Given the description of an element on the screen output the (x, y) to click on. 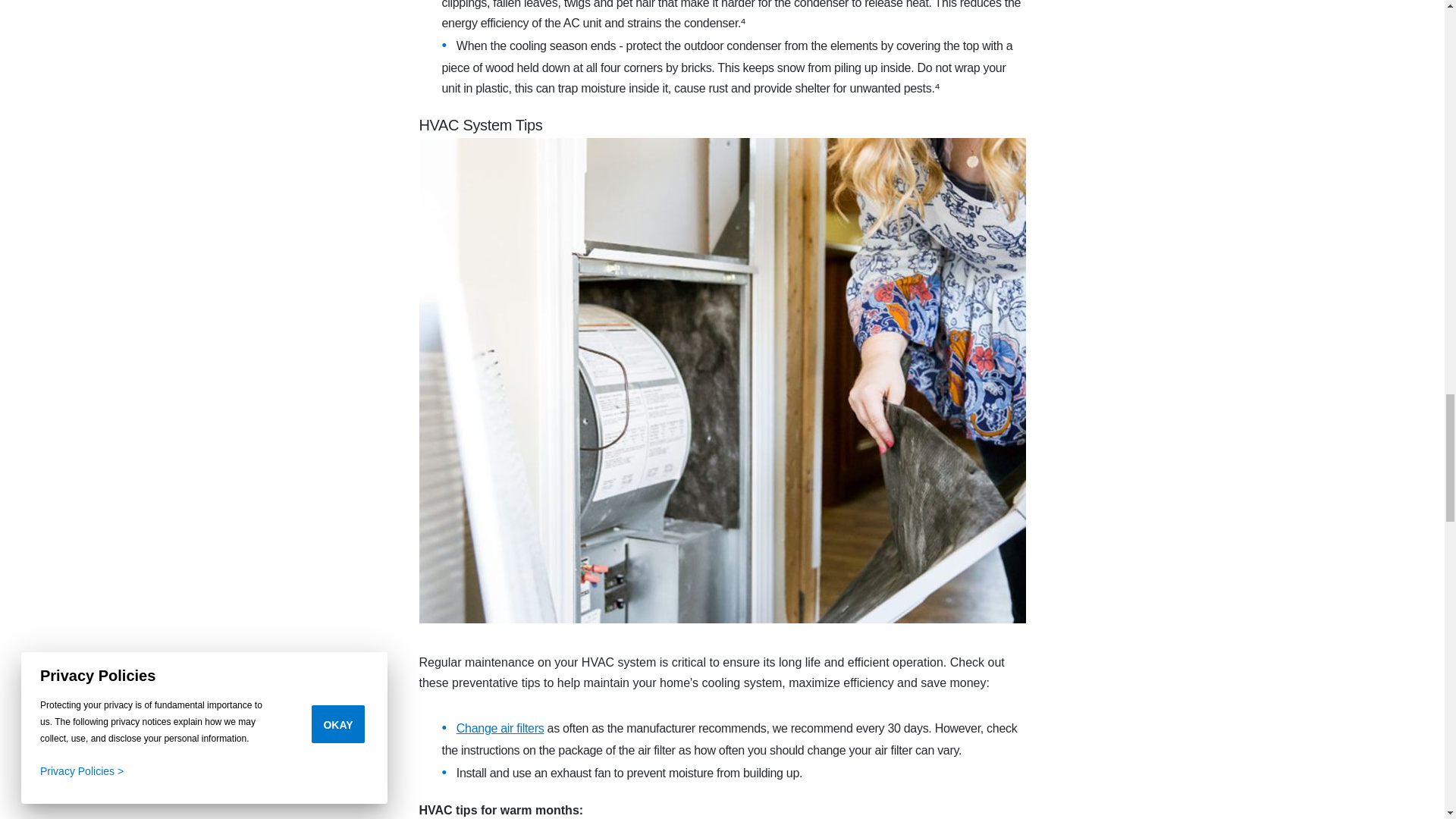
Change air filters (500, 727)
